Given the description of an element on the screen output the (x, y) to click on. 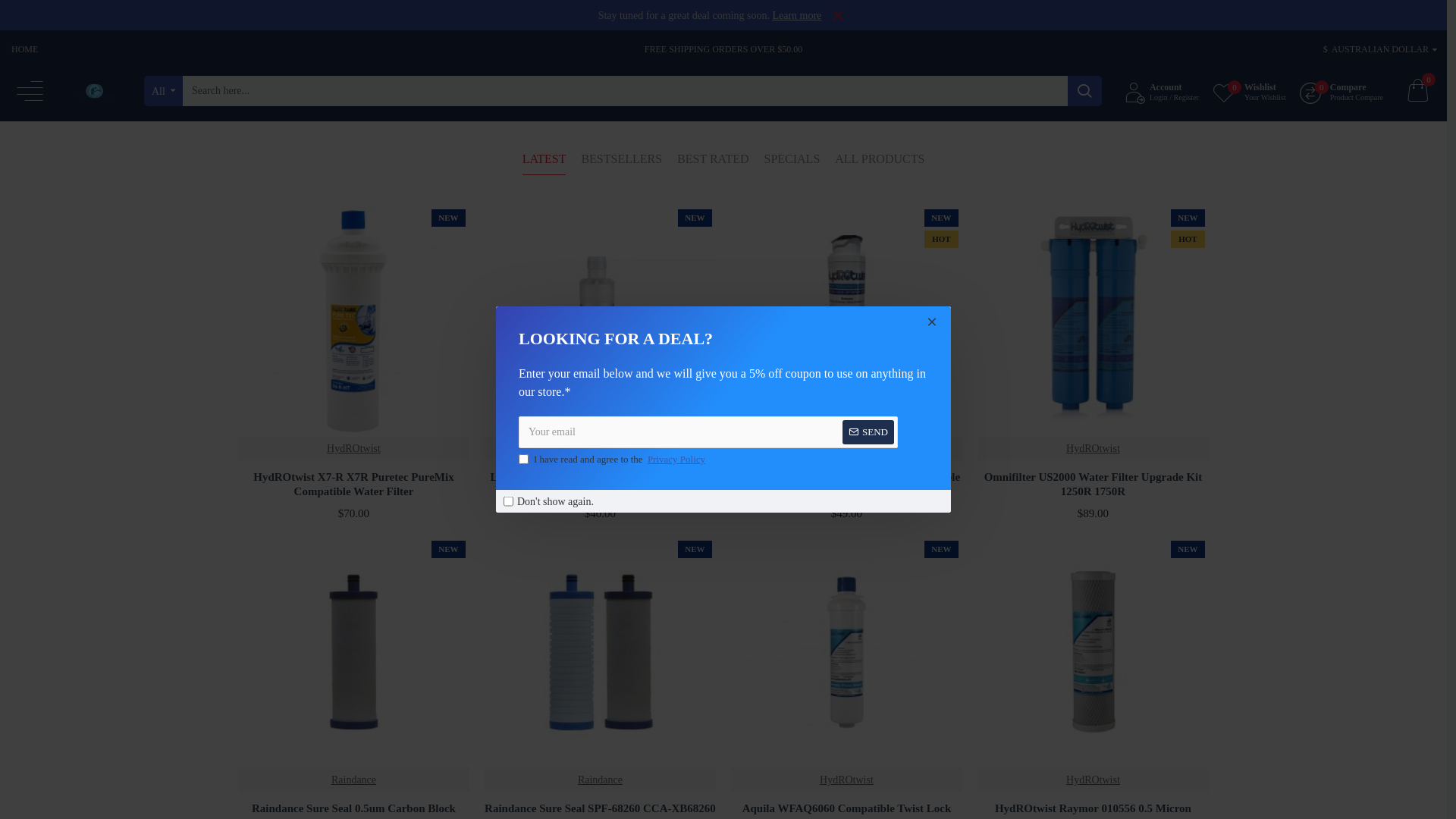
$
AUSTRALIAN DOLLAR Element type: text (1375, 49)
HydROtwist Element type: text (846, 448)
HydROtwist Element type: text (846, 779)
Raindance Element type: text (599, 779)
BEST RATED Element type: text (712, 162)
0 Element type: text (1416, 90)
HydROtwist X7-R X7R Puretec PureMix Compatible Water Filter Element type: text (353, 484)
SEND Element type: text (868, 432)
HydROtwist X7-R X7R Puretec PureMix Compatible Water Filter Element type: hover (353, 320)
Privacy Policy Element type: text (676, 459)
Electrolux EPTWFU01 807946705 Compatible Fridge Water Filter Element type: text (846, 484)
ALL PRODUCTS Element type: text (879, 162)
Compare
Product Compare
0 Element type: text (1340, 90)
HydROtwist Element type: text (1093, 779)
HydROtwist Element type: text (1093, 448)
FREE SHIPPING ORDERS OVER $50.00 Element type: text (723, 48)
LG LT1000P Compatible Fridge Water Filter ADQ74793501 Element type: text (599, 484)
HOME Element type: text (24, 48)
Omnifilter US2000 Water Filter Upgrade Kit 1250R 1750R Element type: text (1092, 484)
Electrolux EPTWFU01 807946705 Compatible Fridge Water Filter Element type: hover (846, 320)
Filter My Water Element type: hover (94, 90)
HydROtwist Element type: text (600, 448)
Wishlist
Your Wishlist
0 Element type: text (1248, 90)
SPECIALS Element type: text (791, 162)
HydROtwist Element type: text (353, 448)
Learn more Element type: text (796, 15)
Aquila WFAQ6060 Compatible Twist Lock Sediment Water Filter Element type: hover (846, 652)
LATEST Element type: text (544, 162)
Account
Login / Register Element type: text (1161, 90)
Omnifilter US2000 Water Filter Upgrade Kit 1250R 1750R Element type: hover (1092, 320)
LG LT1000P Compatible Fridge Water Filter ADQ74793501 Element type: hover (599, 320)
Raindance Element type: text (353, 779)
Raindance Sure Seal SPF-68260 CCA-XB68260 Twin Filter Set Element type: hover (599, 652)
BESTSELLERS Element type: text (621, 162)
